Given the description of an element on the screen output the (x, y) to click on. 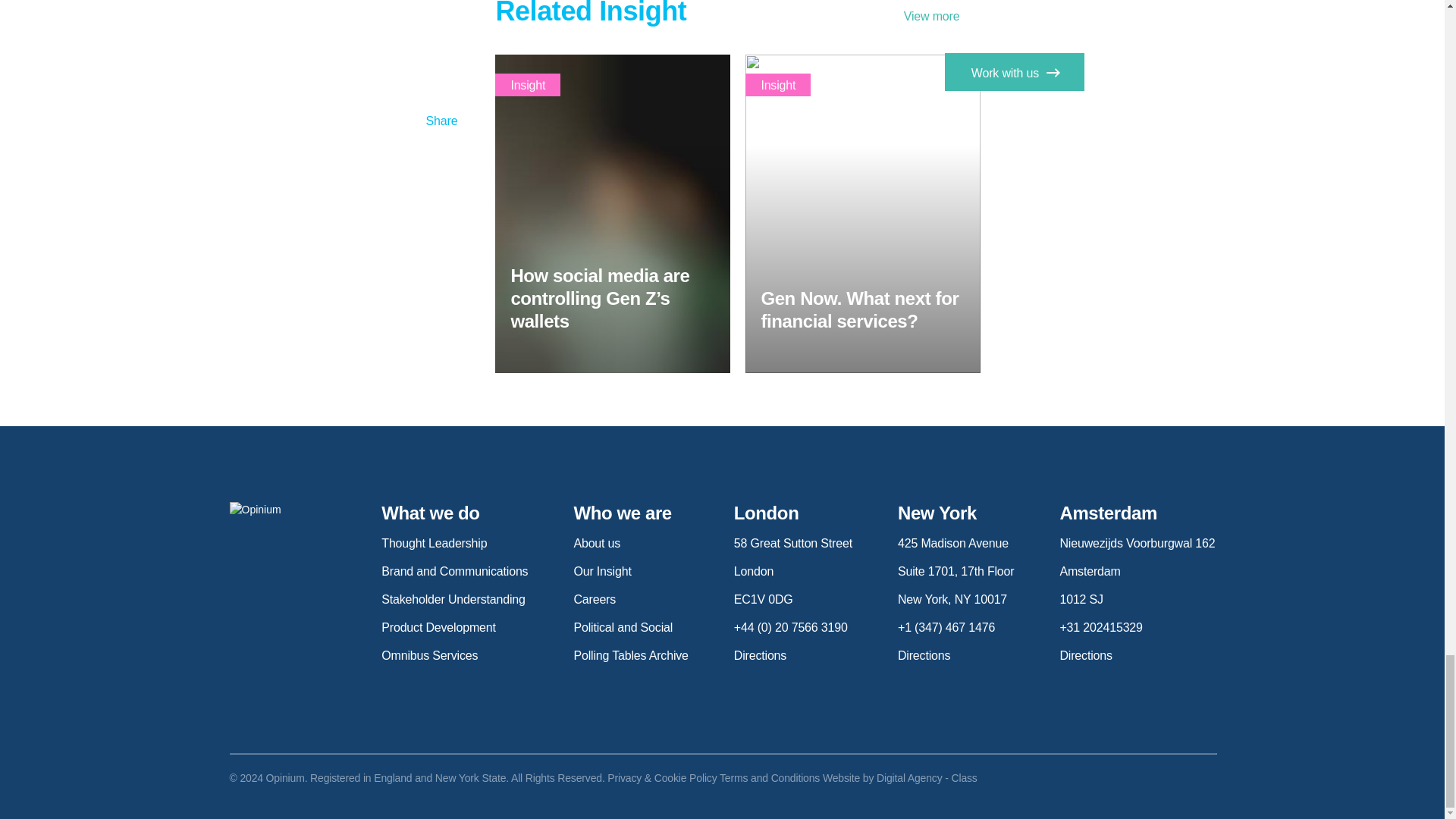
View more (942, 16)
Insight (527, 84)
